Given the description of an element on the screen output the (x, y) to click on. 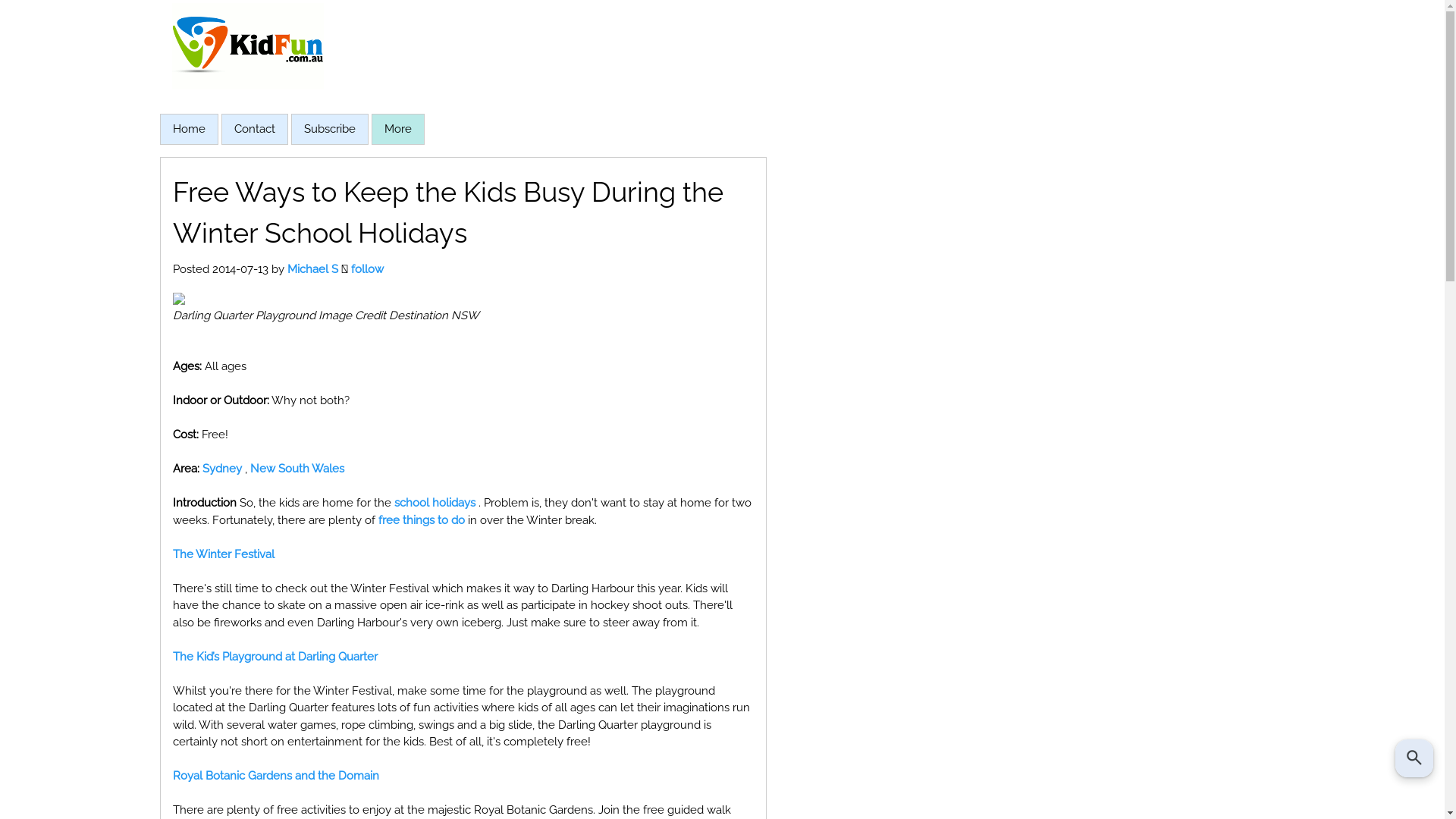
Home Element type: text (188, 128)
Sydney Element type: text (221, 468)
Contact Element type: text (253, 128)
free things to do Element type: text (420, 520)
Subscribe Element type: text (328, 128)
Royal Botanic Gardens and the Domain Element type: text (275, 775)
More Element type: text (397, 128)
follow Element type: text (366, 269)
Michael S Element type: text (311, 269)
The Winter Festival Element type: text (223, 554)
school holidays Element type: text (434, 502)
New South Wales Element type: text (297, 468)
